Given the description of an element on the screen output the (x, y) to click on. 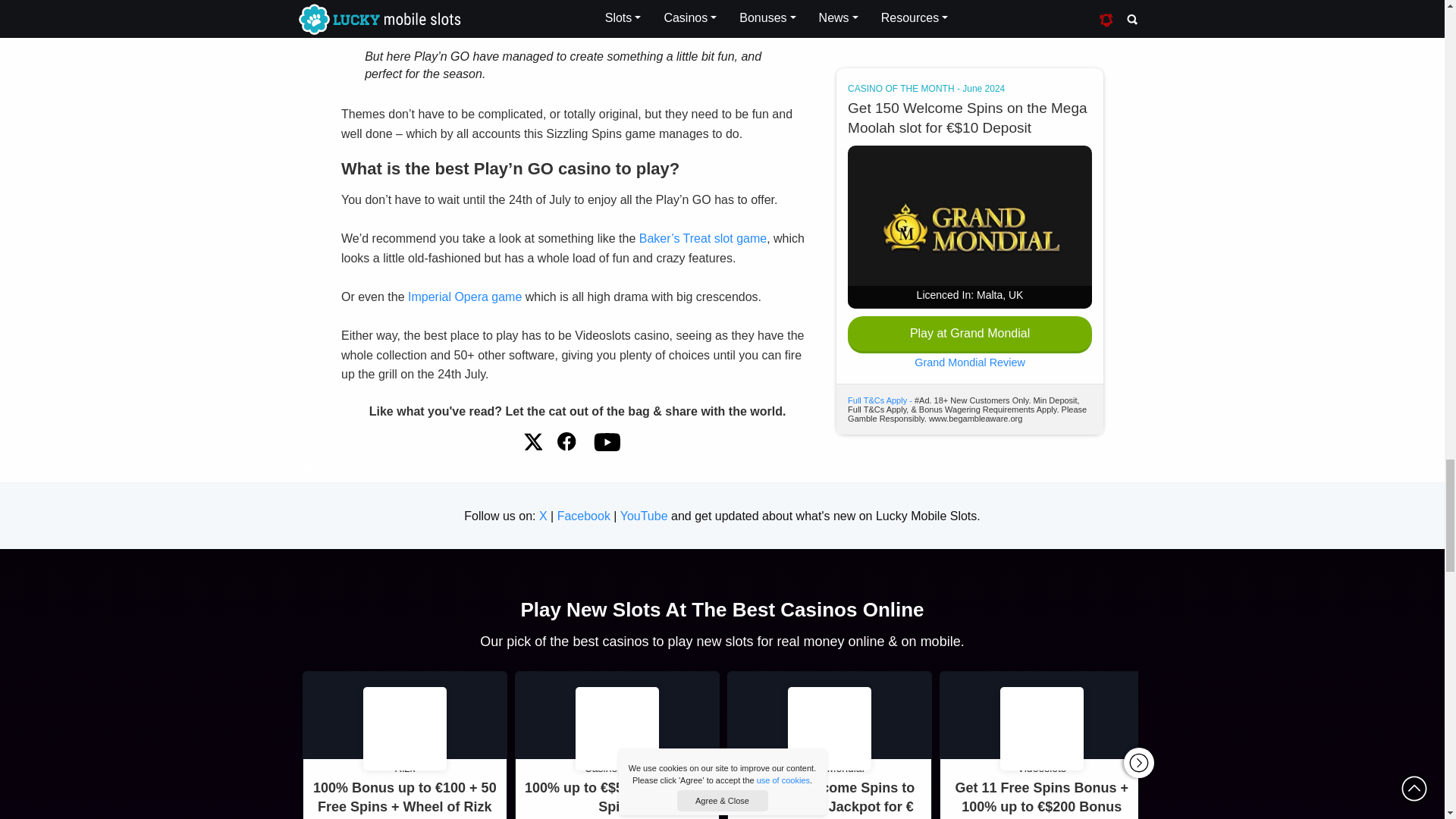
LMS Slot Videos (606, 441)
Imperial Opera Slot Review (464, 296)
Rainbow Riches Drops of Gold Review (574, 11)
Next (1139, 762)
Share The Wealth (566, 441)
Bakers Treat Mobile Slot Review (703, 237)
Tweet it Feline Friend! (531, 441)
